Given the description of an element on the screen output the (x, y) to click on. 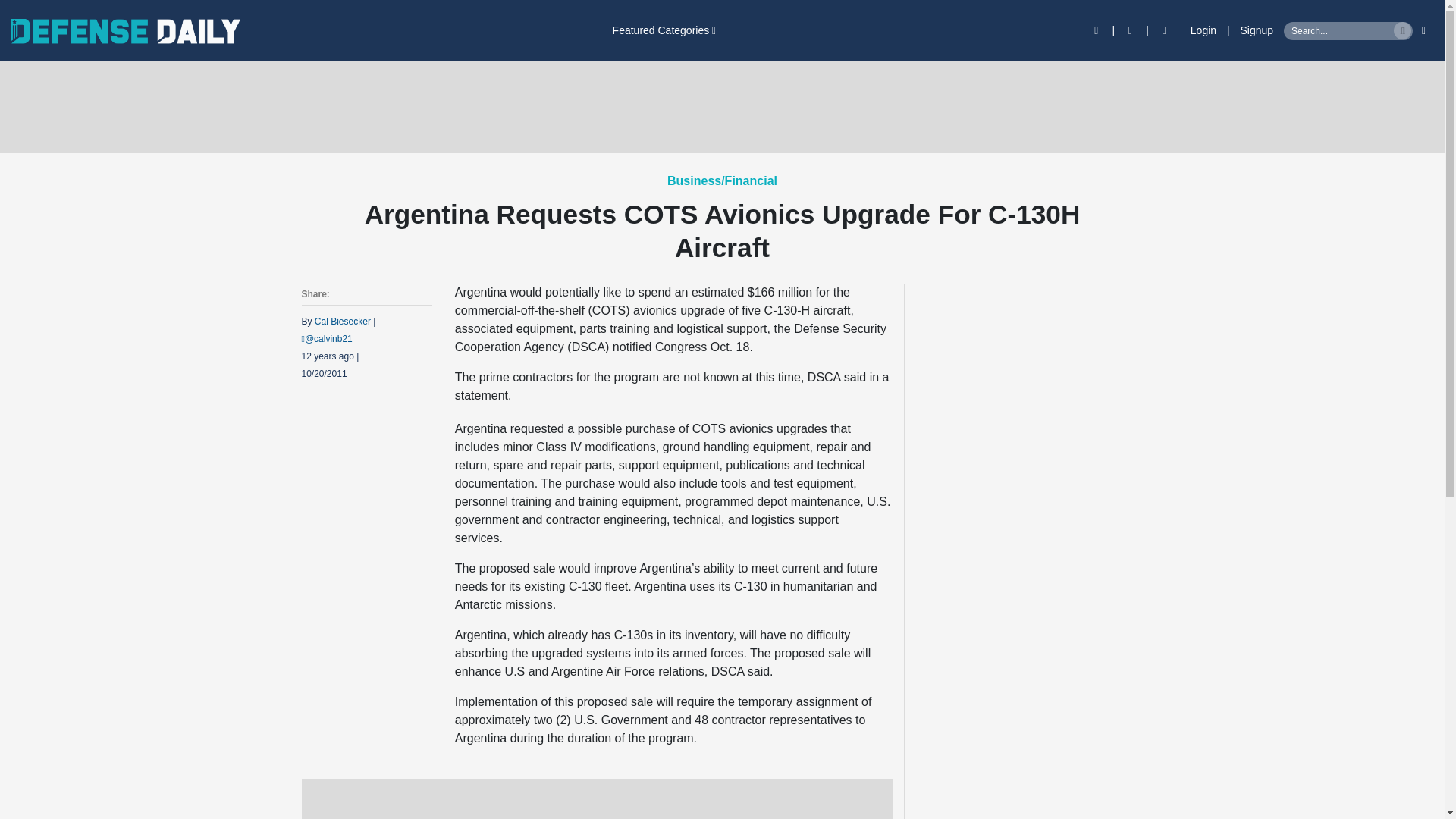
Signup (1257, 30)
Cal Biesecker (342, 321)
